Given the description of an element on the screen output the (x, y) to click on. 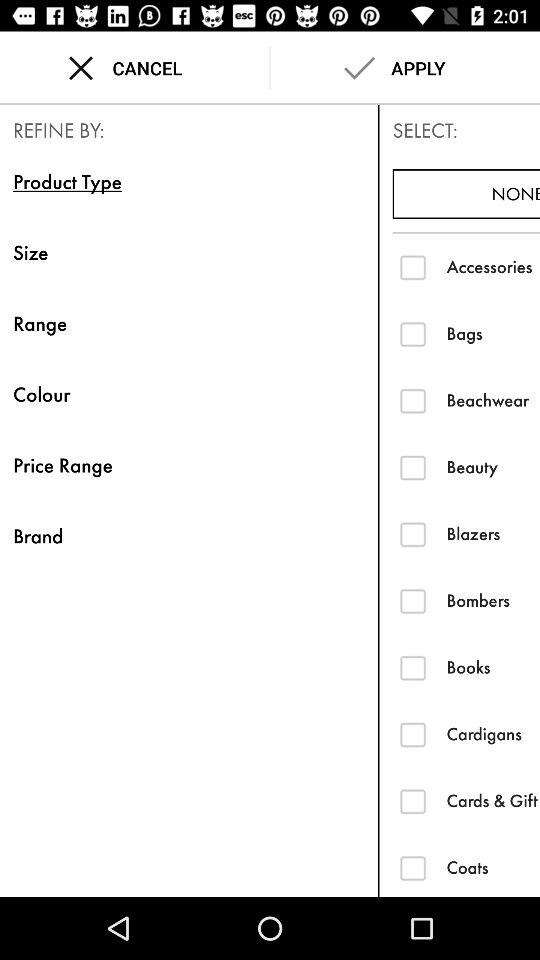
select ths item (412, 800)
